Given the description of an element on the screen output the (x, y) to click on. 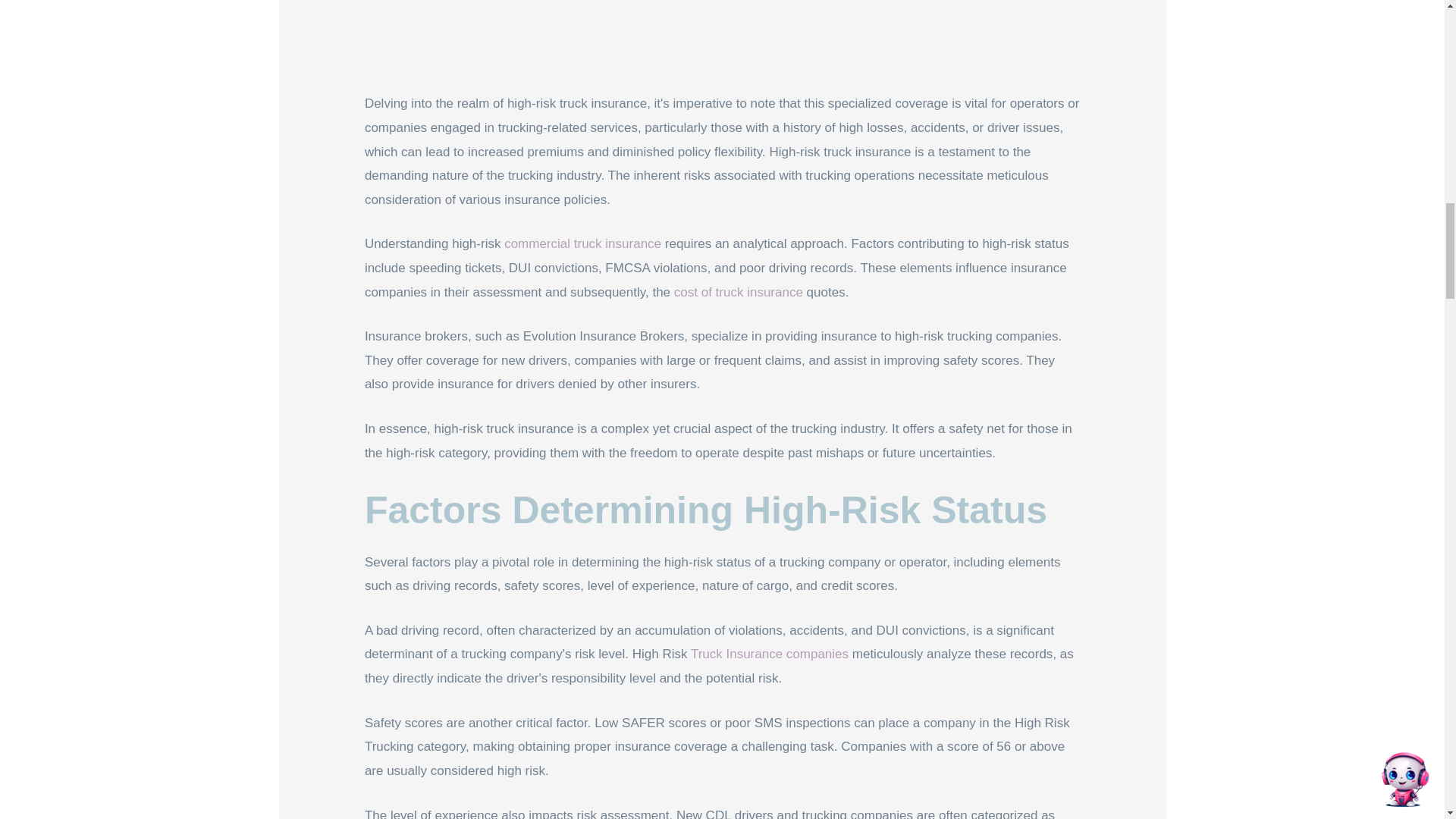
commercial truck insurance (582, 243)
Cost of Truck Insurance (738, 292)
cost of truck insurance (738, 292)
Truck Insurance companies (769, 653)
Commercial Truck Insurance (582, 243)
Truck Insurance Companies (769, 653)
